Given the description of an element on the screen output the (x, y) to click on. 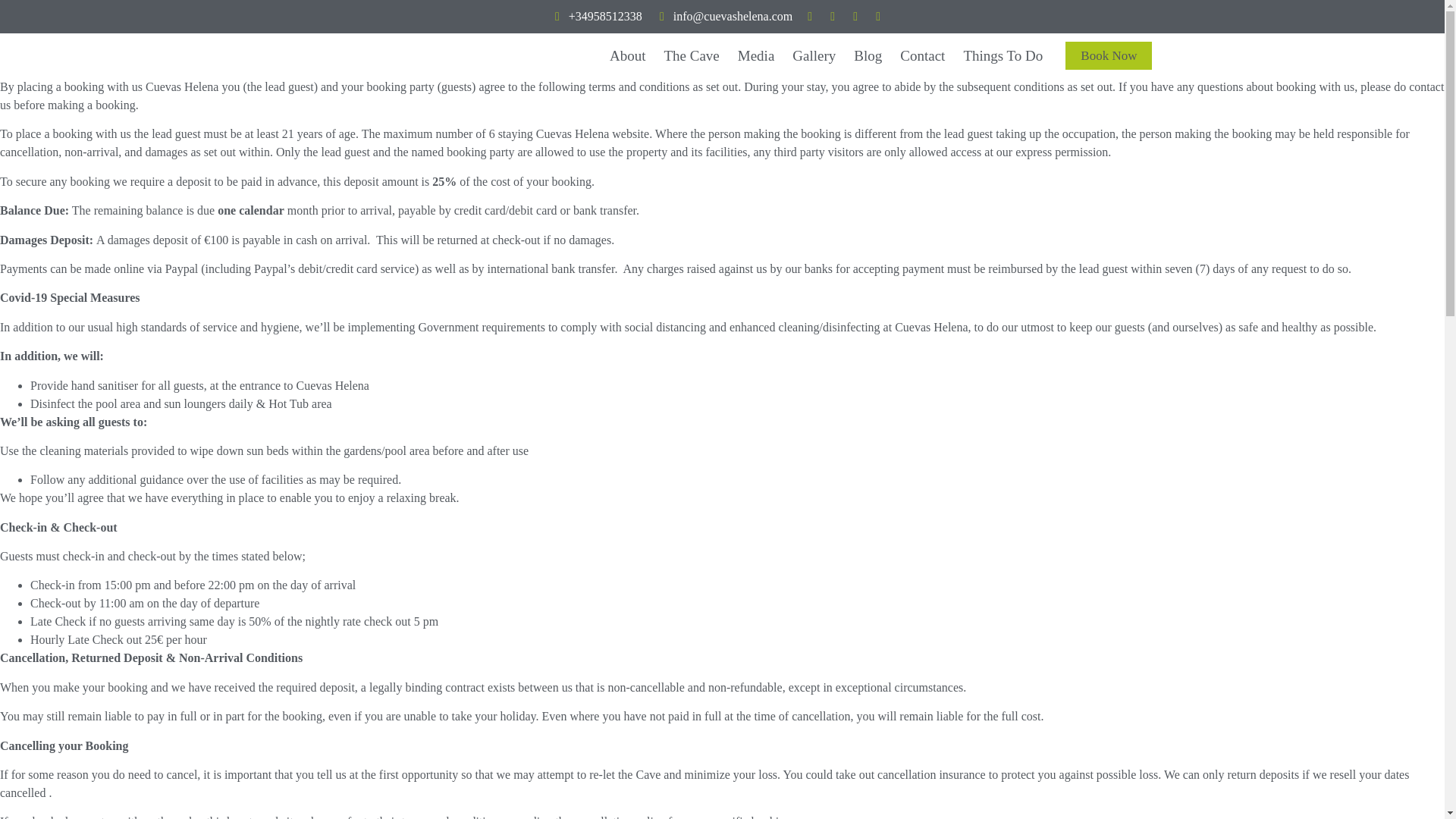
Contact (922, 55)
The Cave (690, 55)
Blog (867, 55)
Gallery (813, 55)
About (627, 55)
Media (756, 55)
Things To Do (1002, 55)
Book Now (1108, 55)
